Given the description of an element on the screen output the (x, y) to click on. 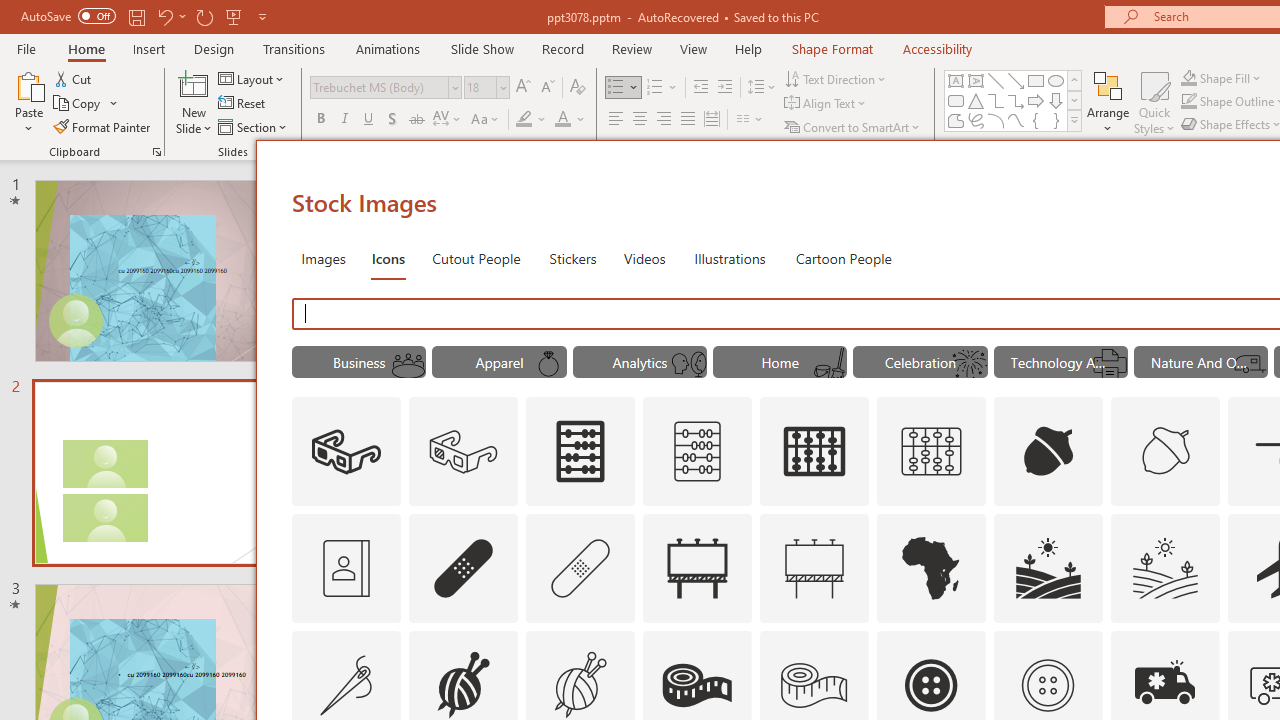
AutomationID: Icons_Africa (931, 568)
Text Direction (836, 78)
Layout (252, 78)
AutomationID: Icons_Fireworks_M (970, 364)
Character Spacing (447, 119)
AutomationID: Icons_AdhesiveBandage_M (580, 568)
Increase Font Size (522, 87)
Illustrations (729, 258)
Change Case (486, 119)
"Home" Icons. (779, 362)
